Given the description of an element on the screen output the (x, y) to click on. 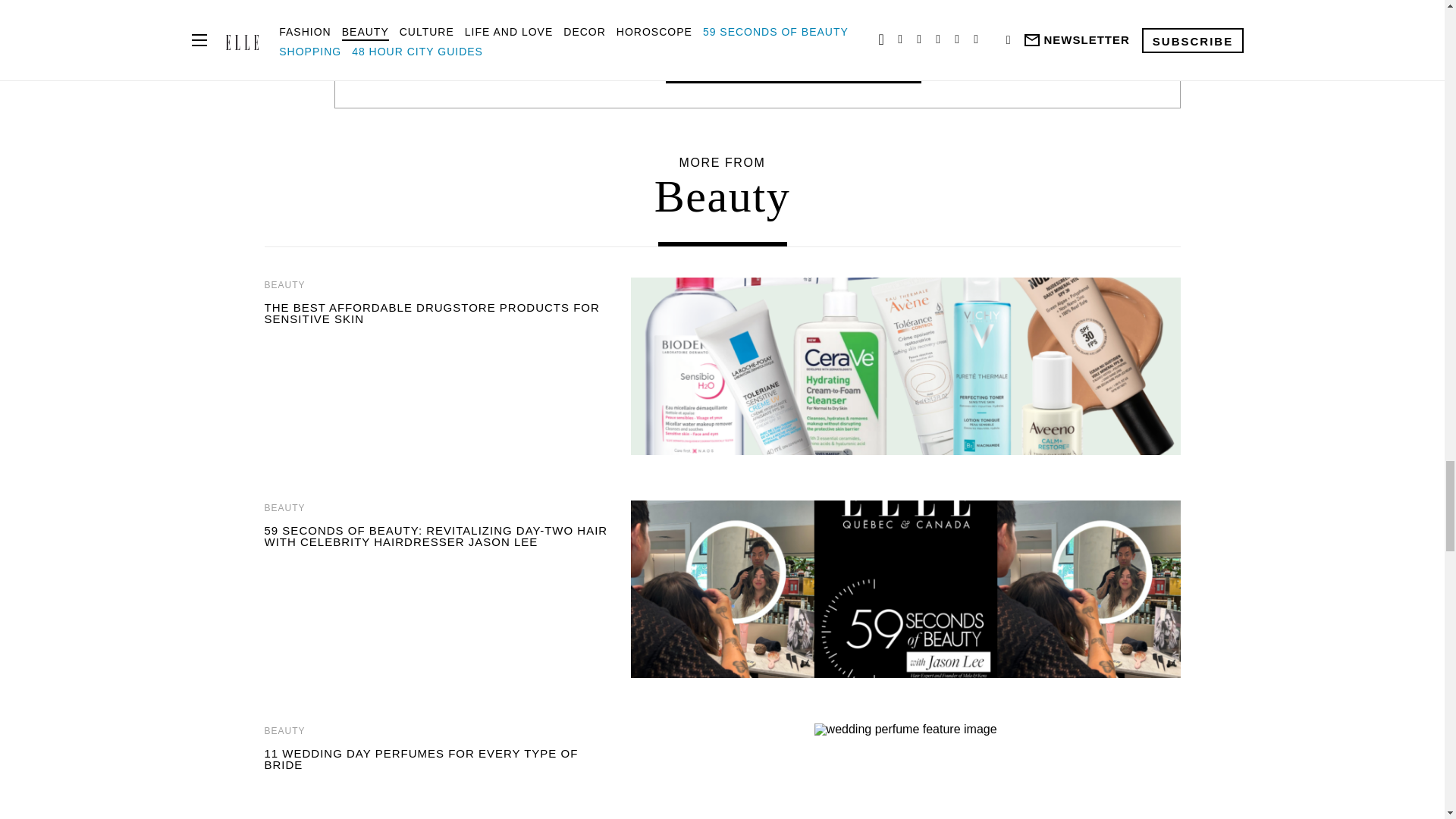
SUBSCRIBE TO NEWSLETTER (721, 758)
